Given the description of an element on the screen output the (x, y) to click on. 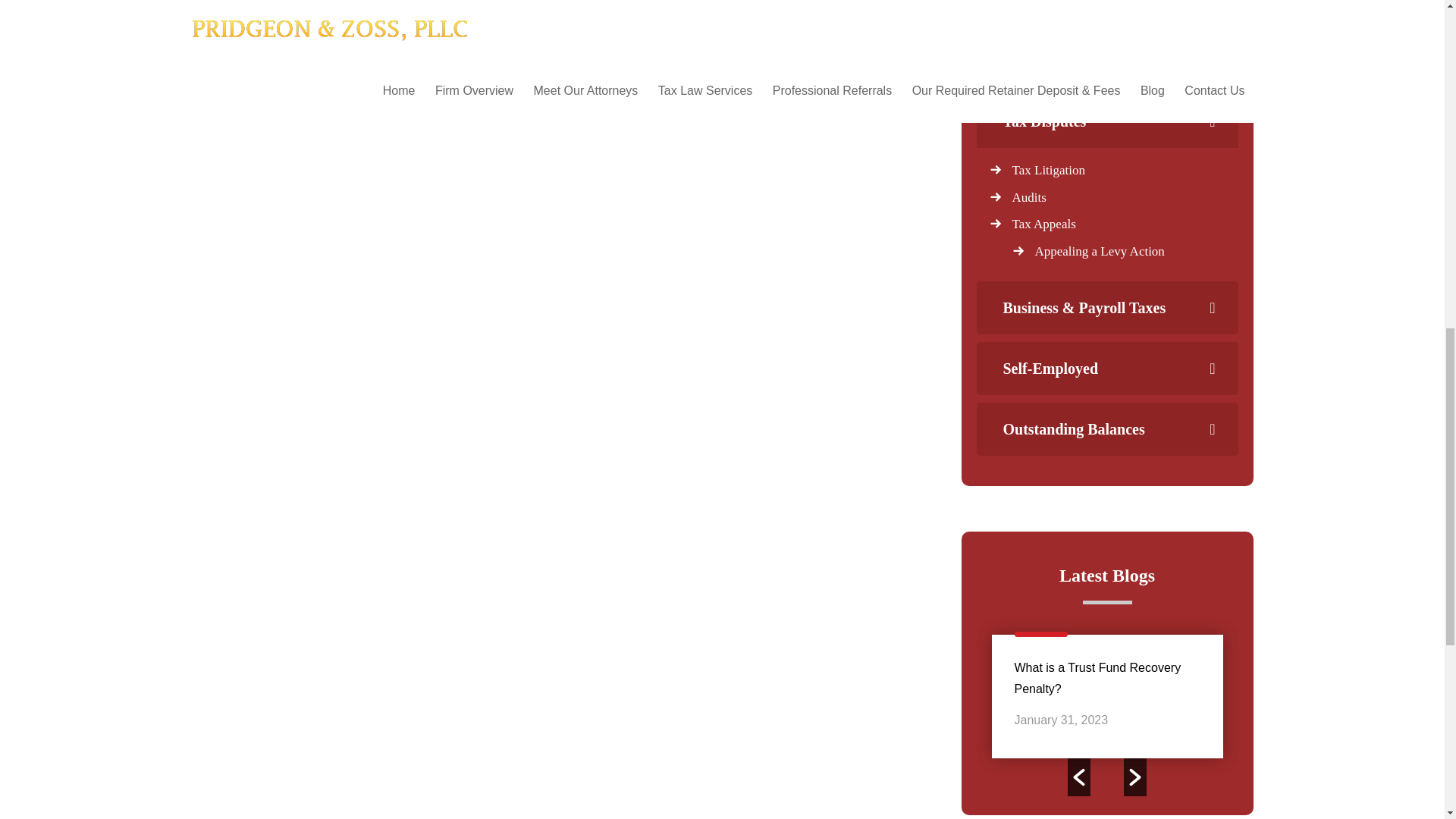
Tax Appeals (1043, 223)
Tax Disputes (1106, 121)
Audits (1028, 196)
Appealing a Levy Action (1098, 251)
Tax Litigation (1047, 169)
